Given the description of an element on the screen output the (x, y) to click on. 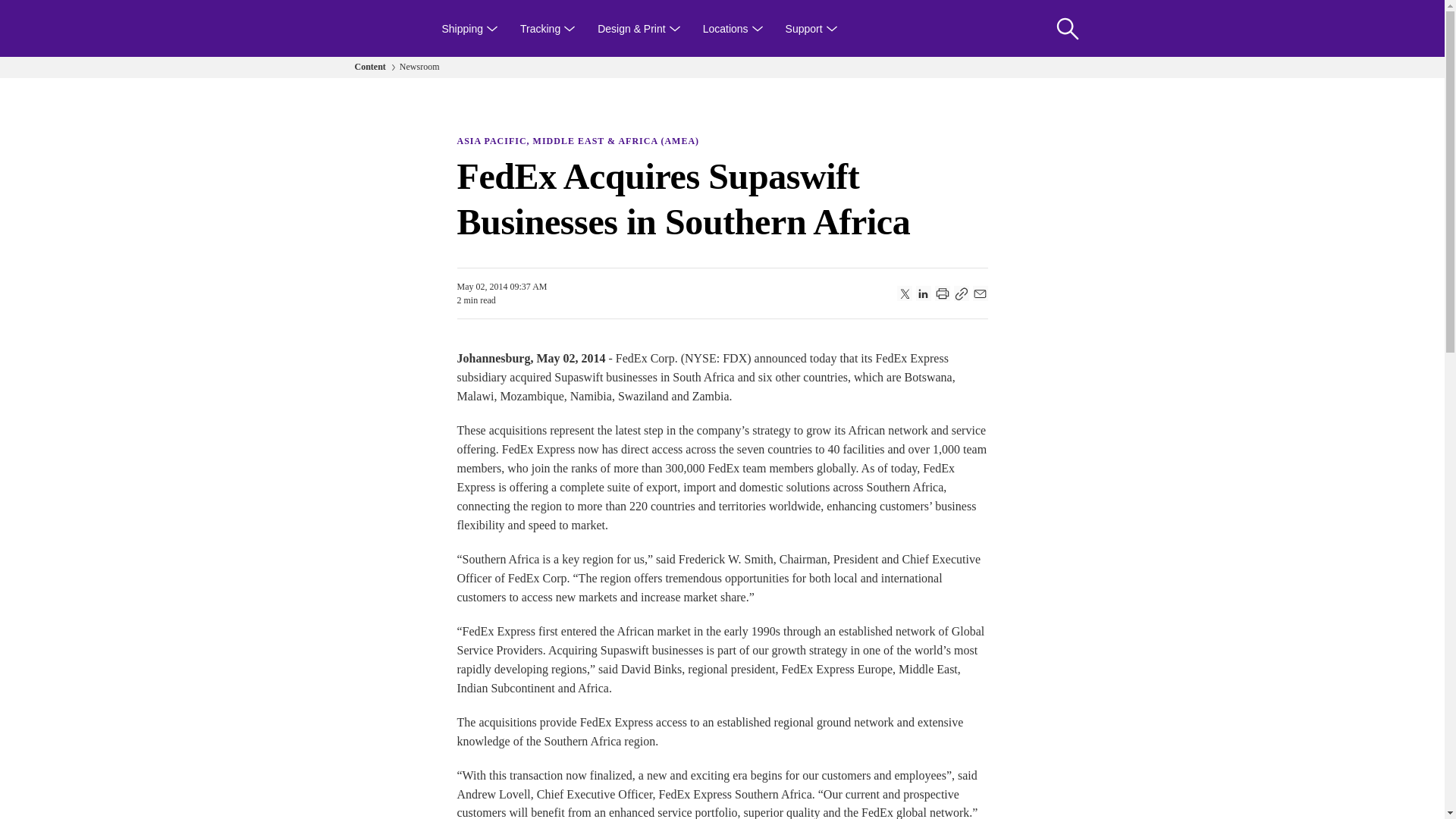
Newsroom (418, 66)
Shipping (469, 28)
Locations (732, 28)
Support (811, 28)
Tracking (547, 28)
